Given the description of an element on the screen output the (x, y) to click on. 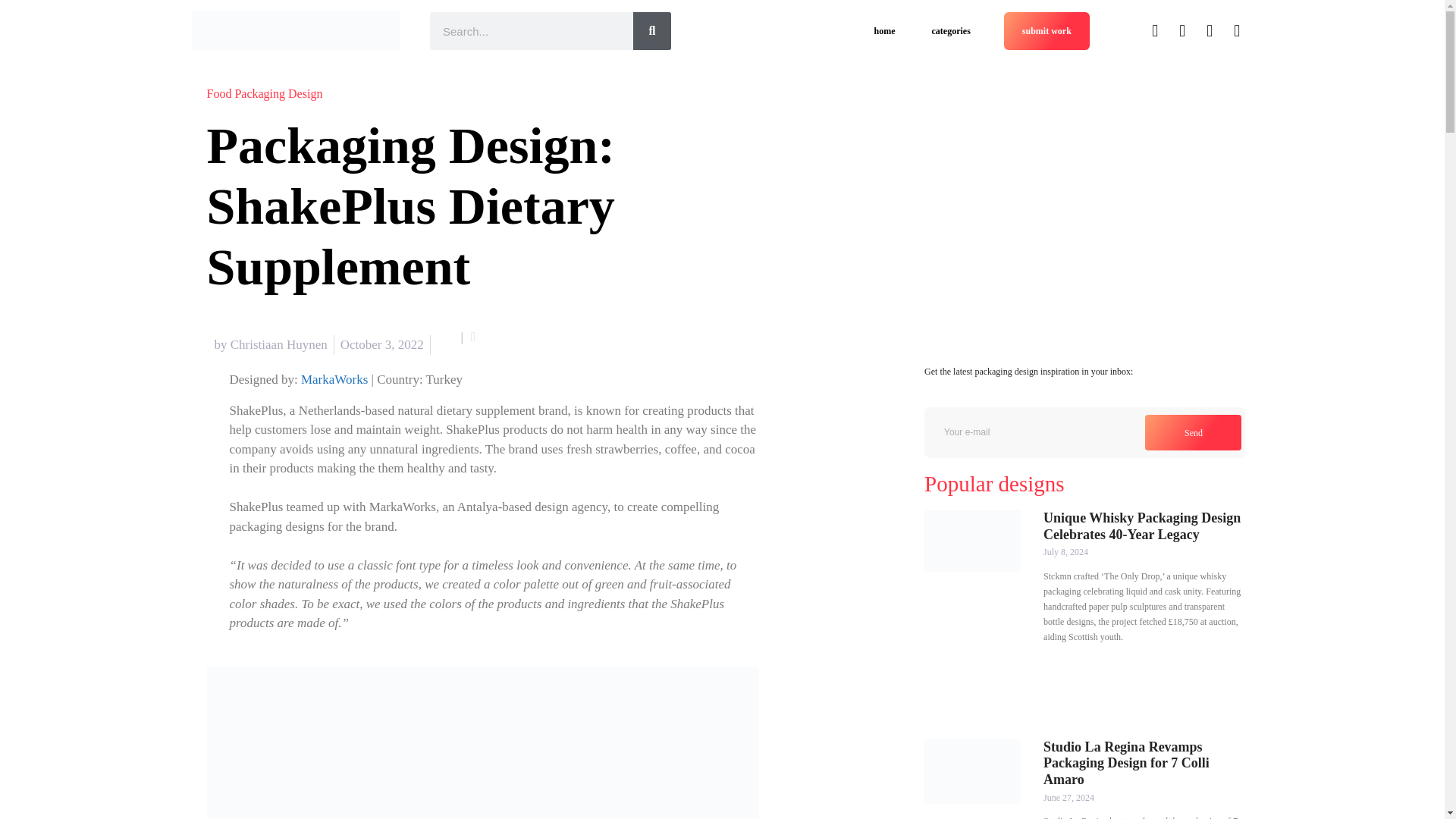
home (885, 30)
submit work (1046, 30)
categories (951, 30)
Packaging Design: ShakePlus Dietary Supplement (482, 743)
